Given the description of an element on the screen output the (x, y) to click on. 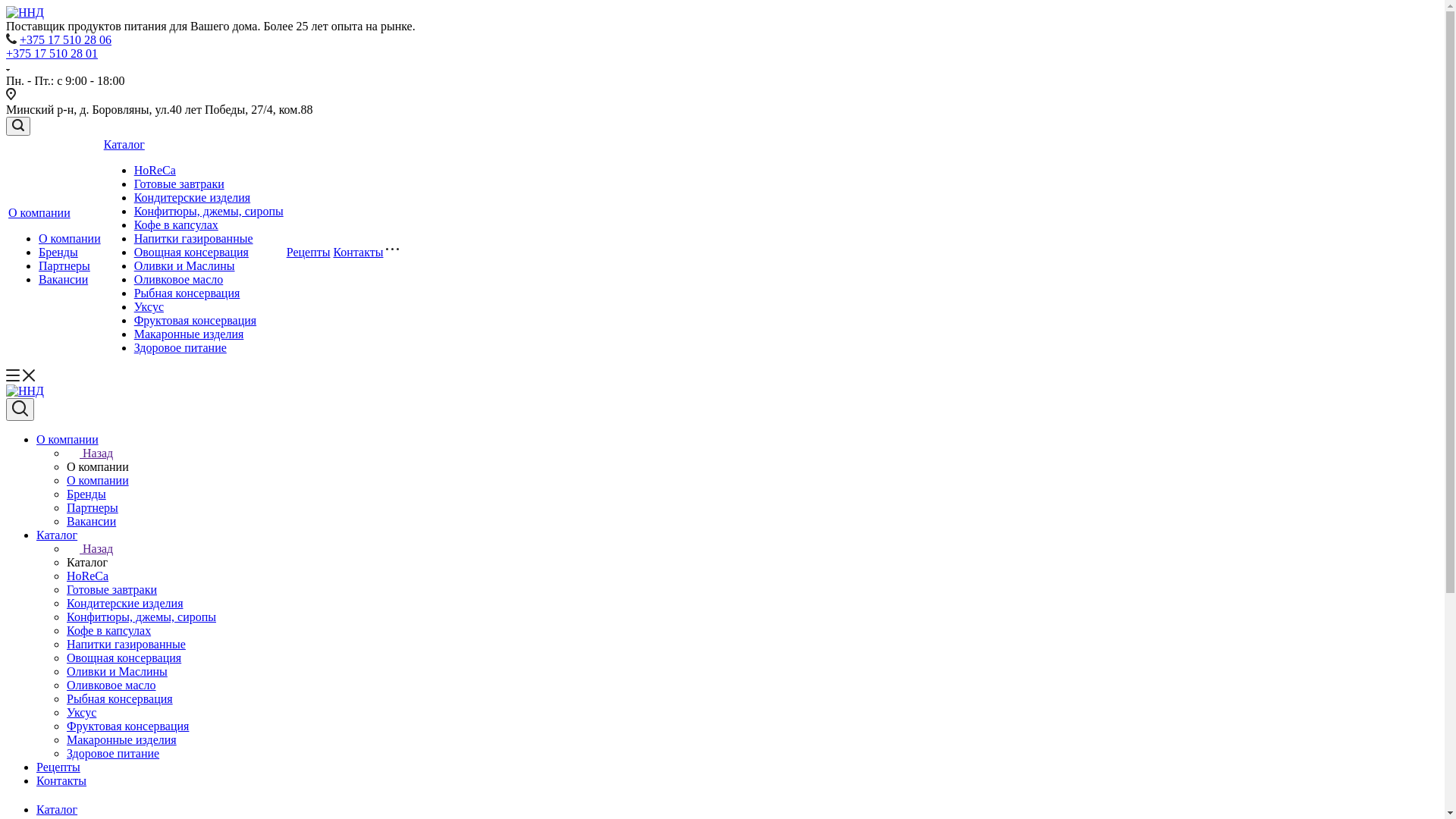
HoReCa Element type: text (154, 169)
+375 17 510 28 06 Element type: text (65, 39)
HoReCa Element type: text (87, 575)
+375 17 510 28 01 Element type: text (51, 53)
